Given the description of an element on the screen output the (x, y) to click on. 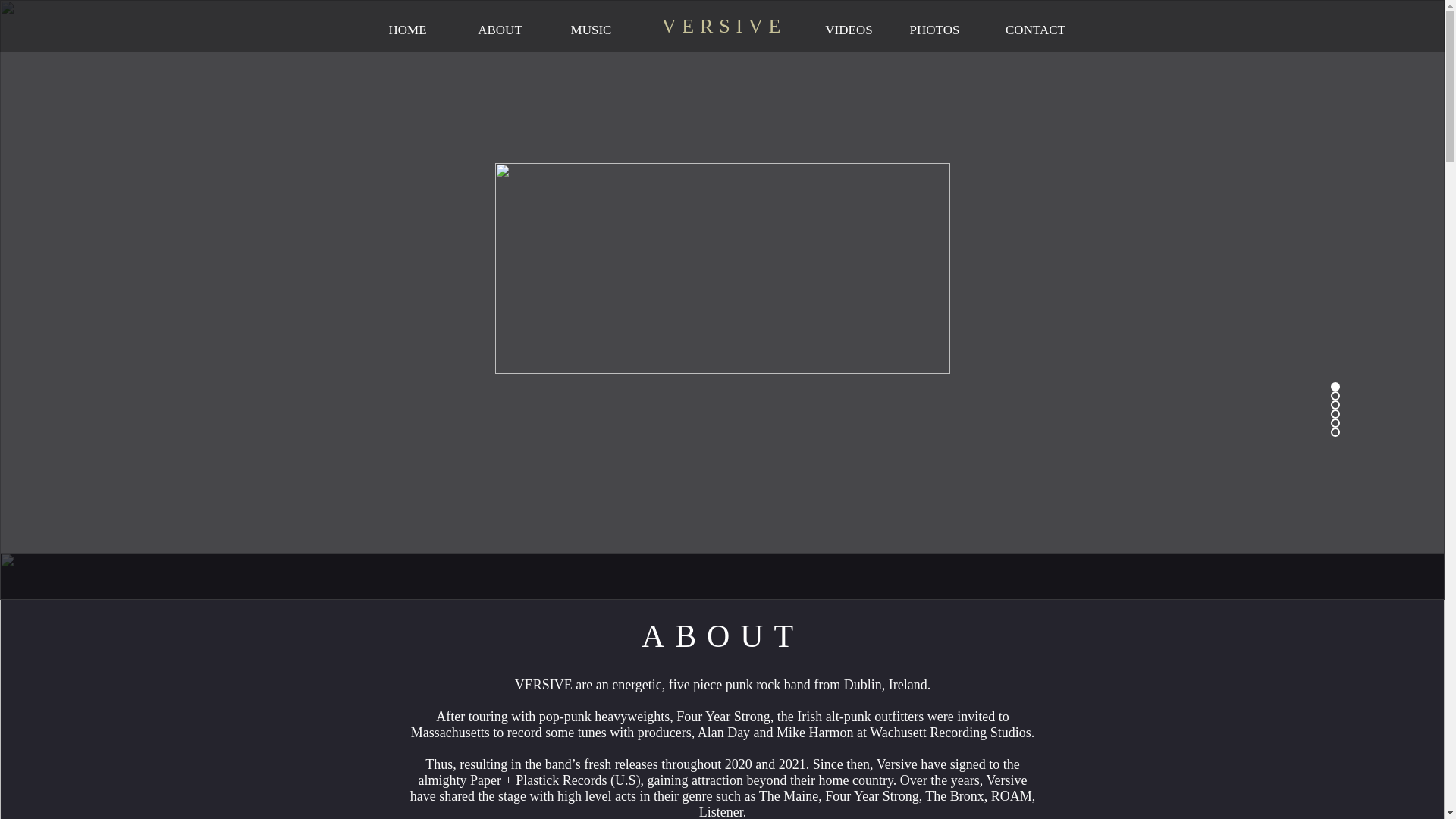
CONTACT (1035, 30)
HOME (407, 30)
VERSIVE (724, 25)
MUSIC (591, 30)
PHOTOS (934, 30)
VIDEOS (848, 30)
ABOUT (500, 30)
